Given the description of an element on the screen output the (x, y) to click on. 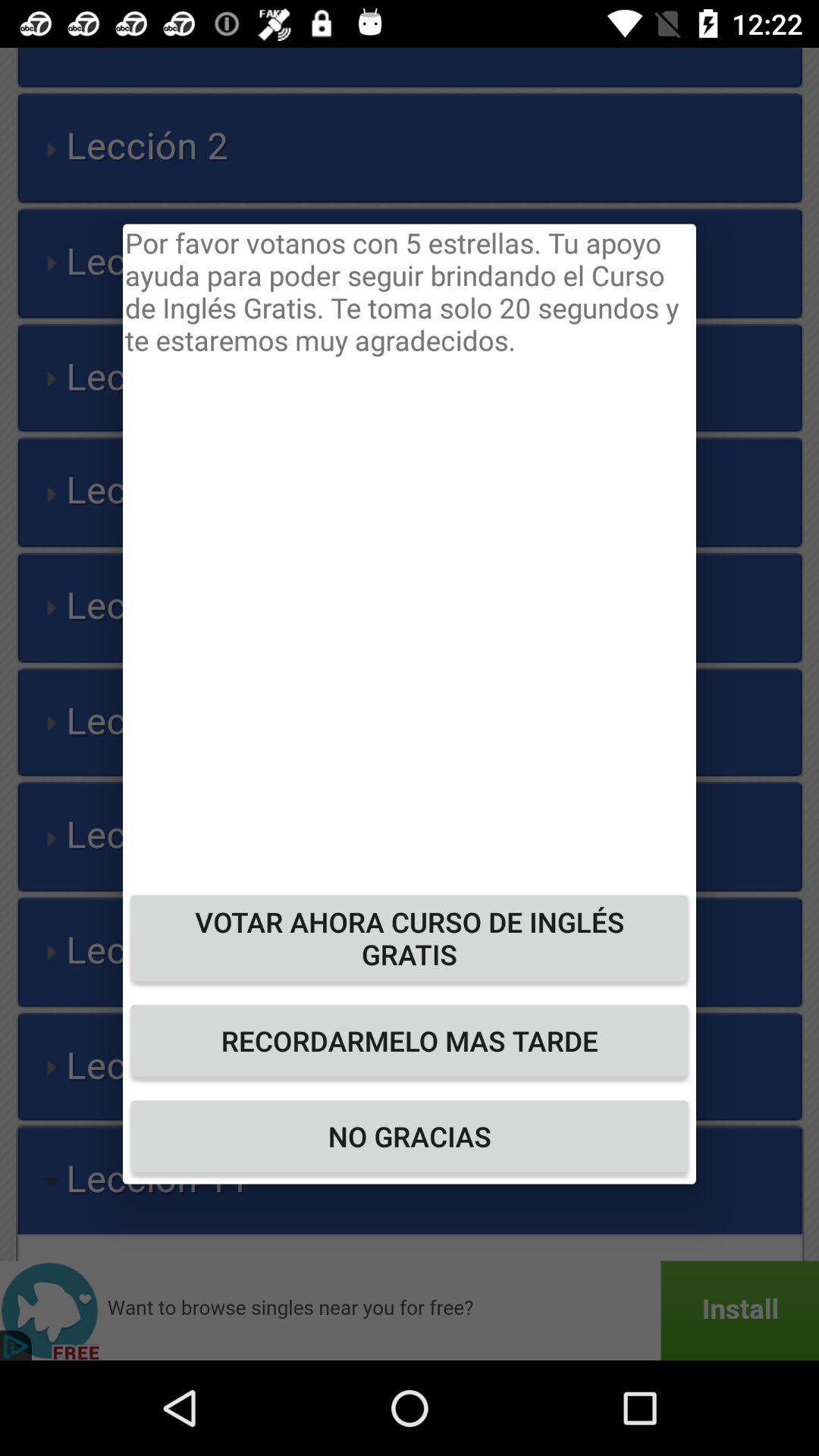
open the button above the no gracias item (409, 1040)
